Given the description of an element on the screen output the (x, y) to click on. 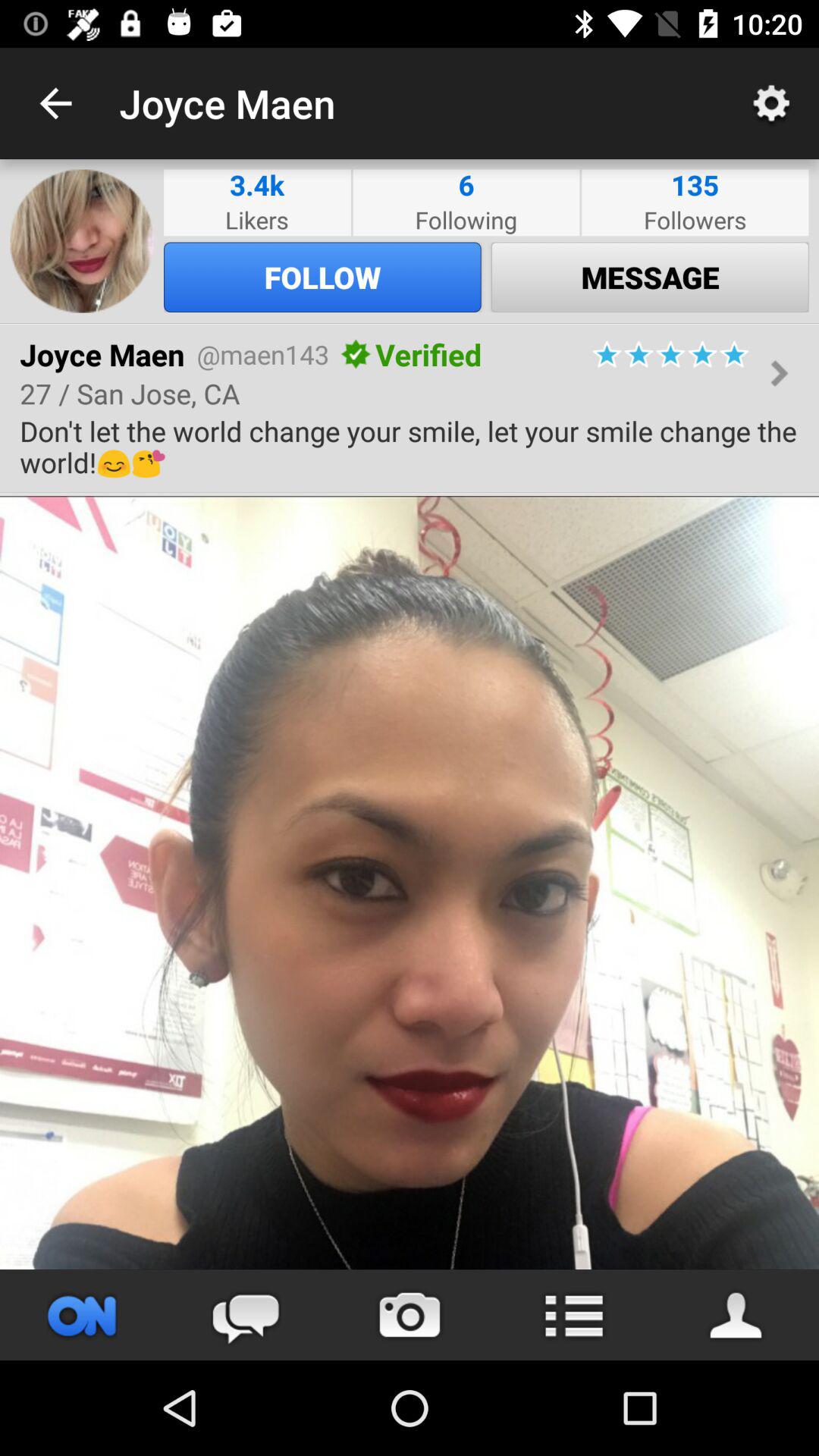
launch item next to verified item (356, 354)
